Given the description of an element on the screen output the (x, y) to click on. 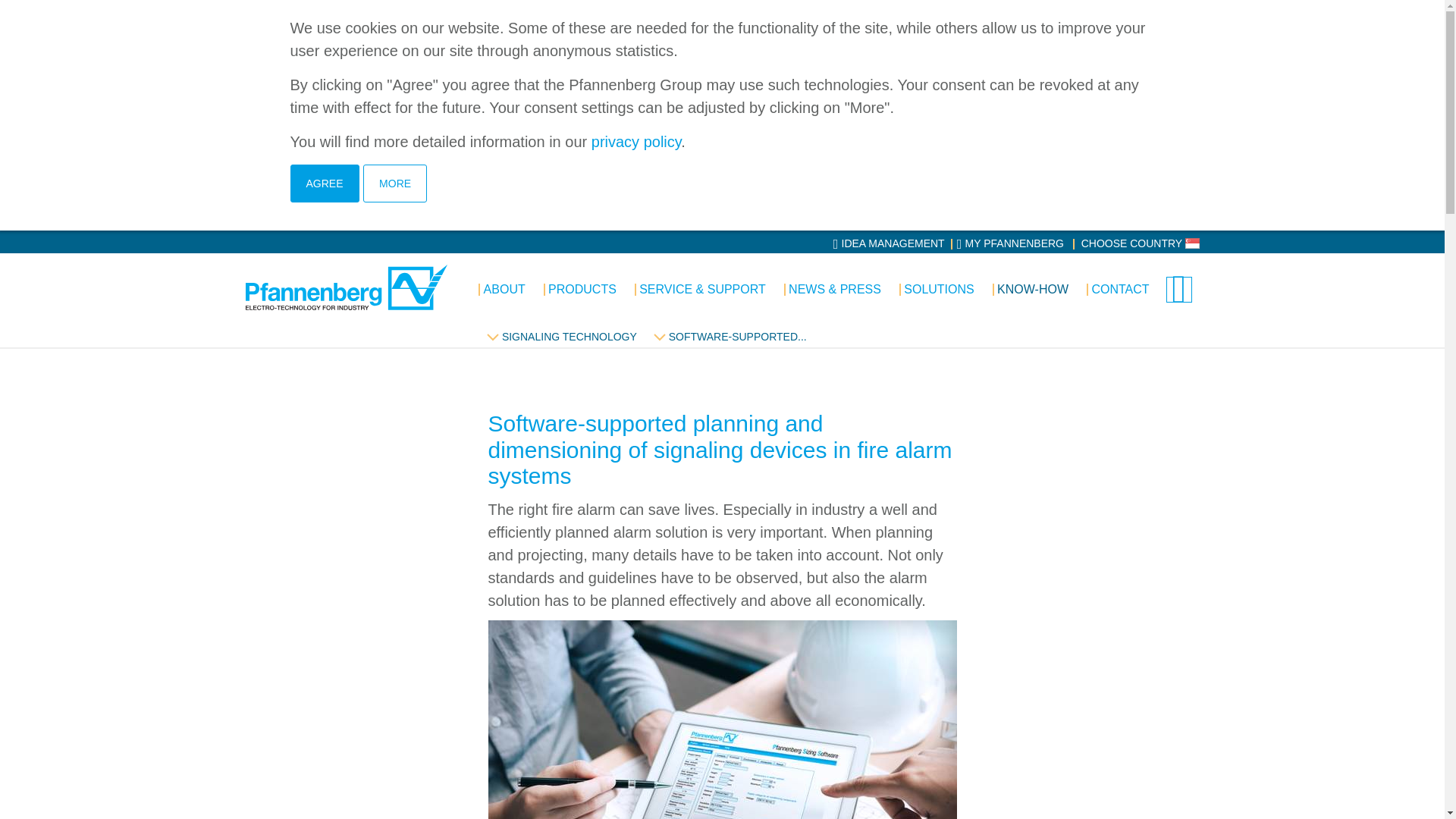
AGREE (323, 183)
PRODUCTS (580, 289)
privacy policy (636, 141)
MORE (394, 183)
IDEA MANAGEMENT (888, 243)
ABOUT (501, 289)
Toggle search (1179, 289)
MY PFANNENBERG (1011, 243)
CHOOSE COUNTRY (1140, 243)
